Given the description of an element on the screen output the (x, y) to click on. 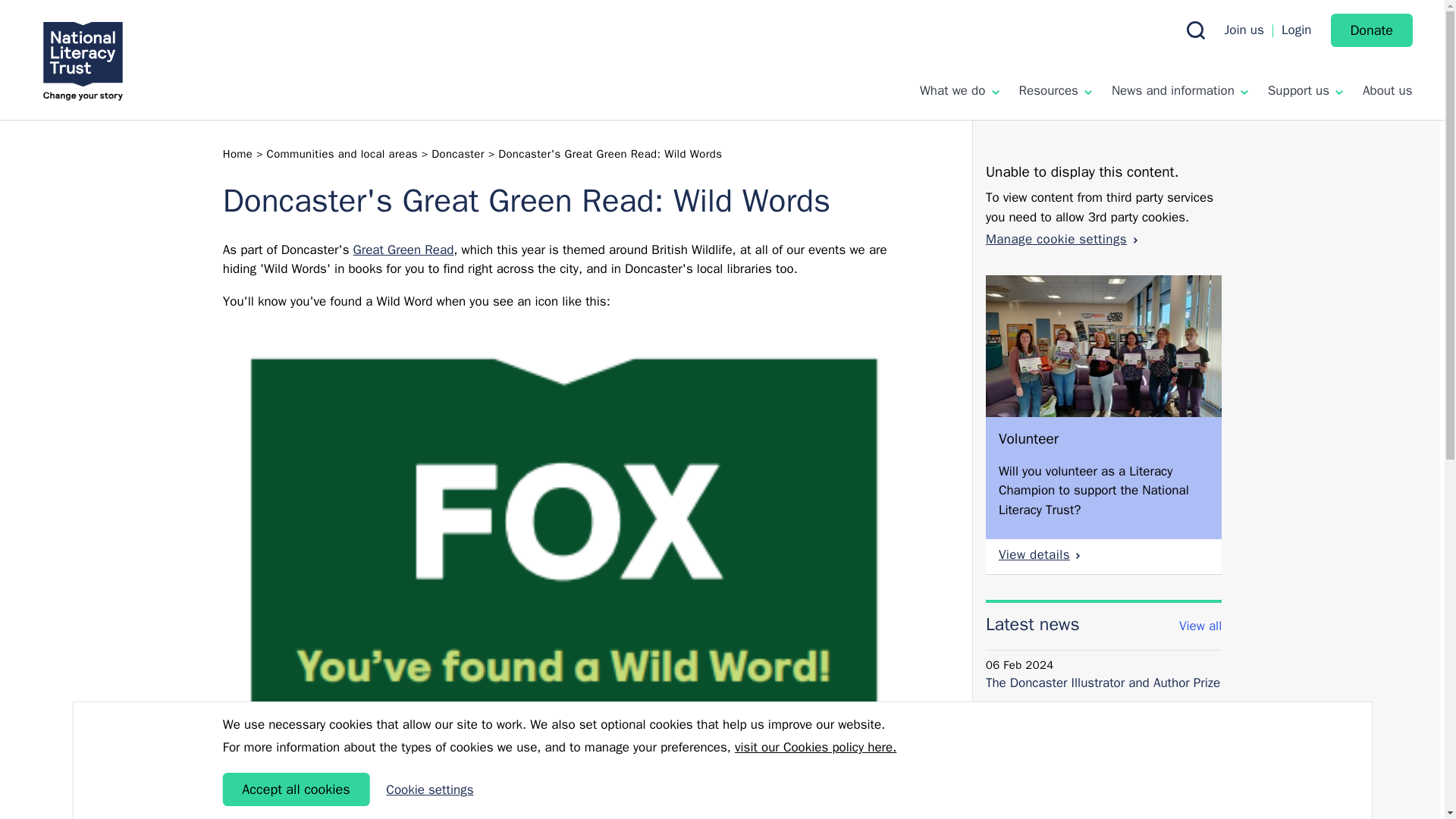
Resources (1054, 90)
Cookie settings (429, 790)
Join us (1243, 29)
What we do (959, 90)
visit our Cookies policy here. (815, 747)
Donate (1371, 29)
Accept all cookies (295, 789)
News and information (1179, 90)
Login (1296, 29)
